Given the description of an element on the screen output the (x, y) to click on. 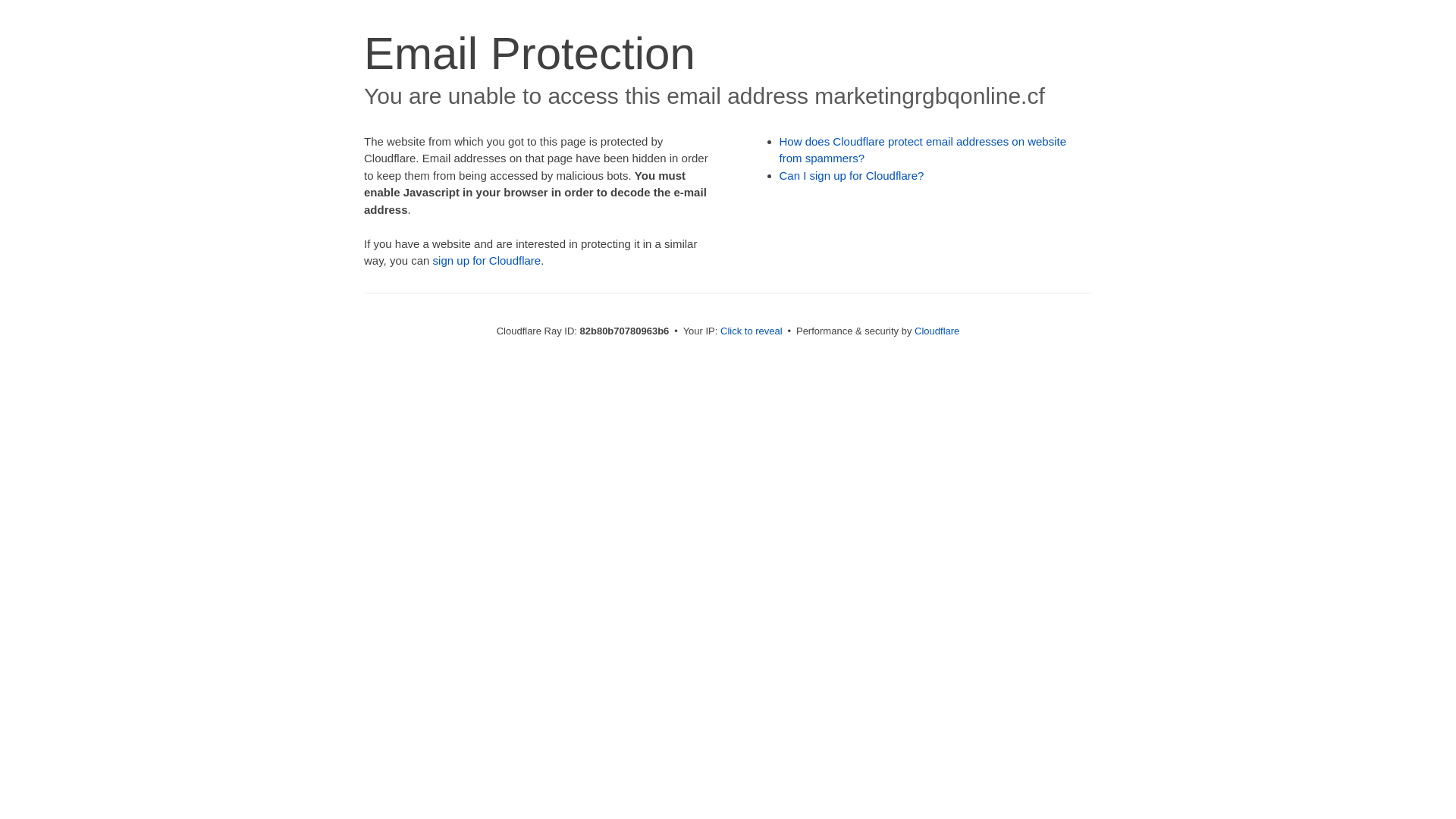
Cloudflare Element type: text (936, 330)
Click to reveal Element type: text (751, 330)
sign up for Cloudflare Element type: text (487, 260)
Can I sign up for Cloudflare? Element type: text (851, 175)
